Given the description of an element on the screen output the (x, y) to click on. 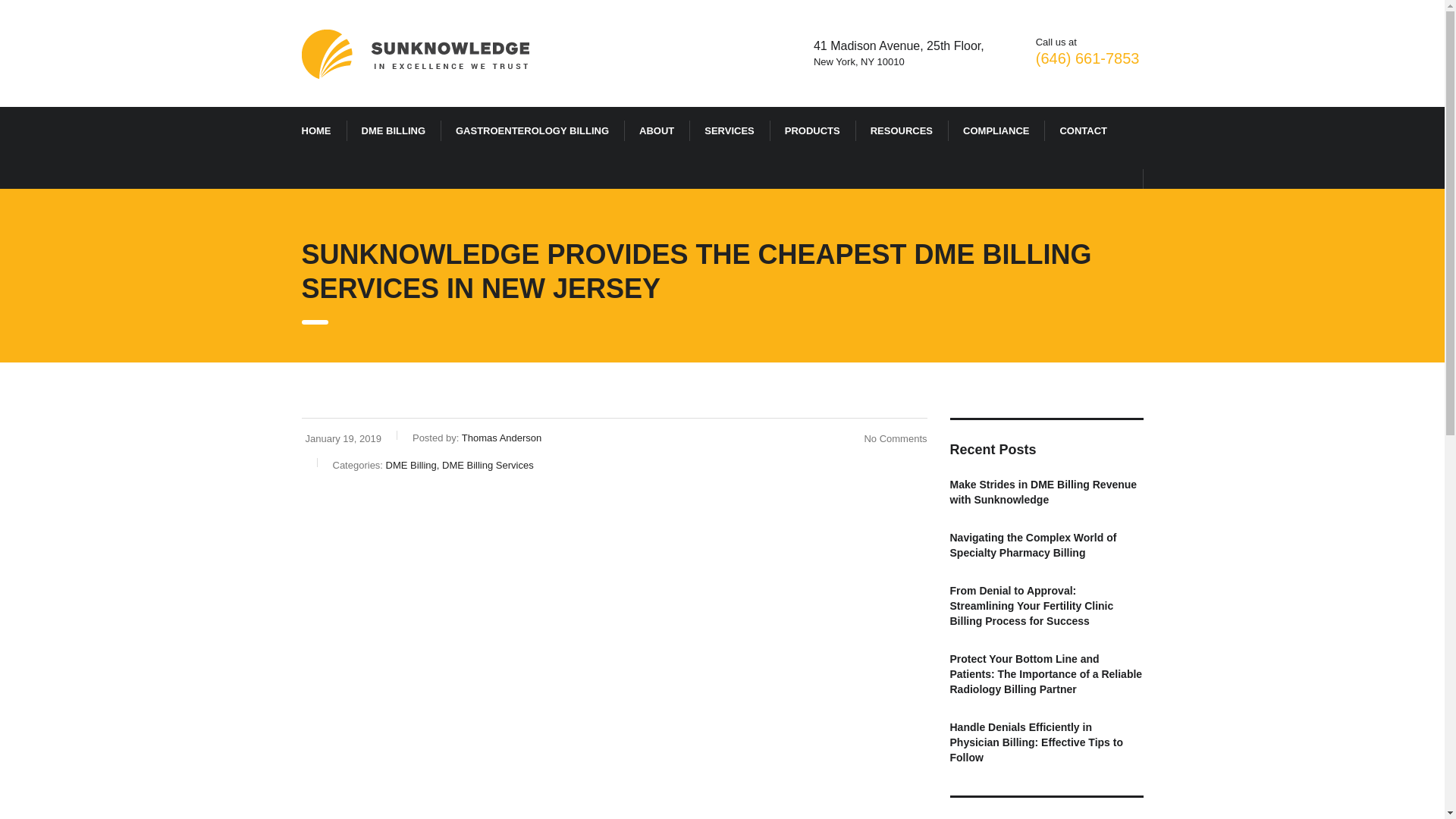
ABOUT (656, 131)
HOME (316, 131)
SERVICES (729, 131)
DME BILLING (393, 131)
GASTROENTEROLOGY BILLING (532, 131)
